Given the description of an element on the screen output the (x, y) to click on. 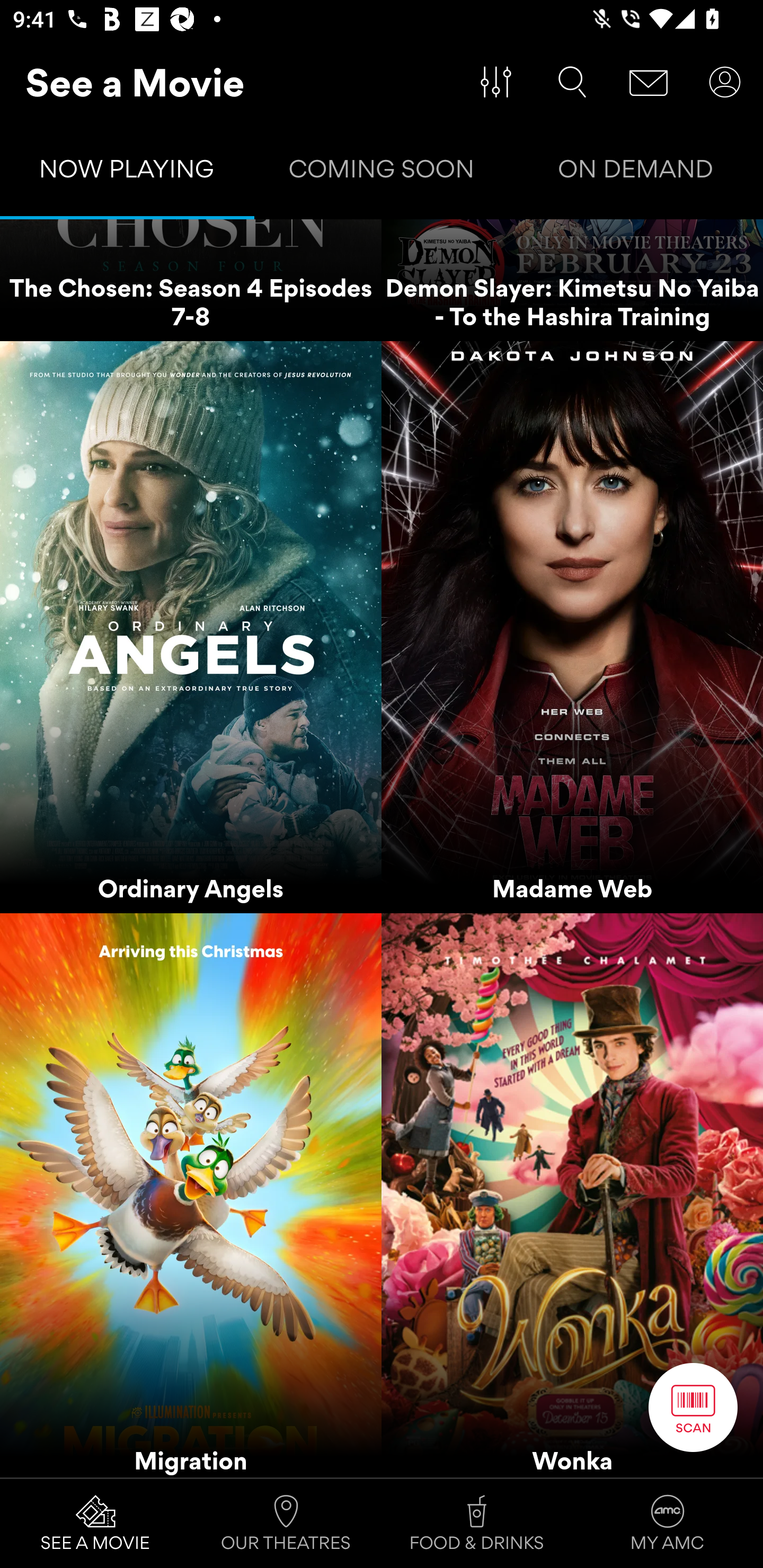
Filter Movies (495, 82)
Search (572, 82)
Message Center (648, 82)
User Account (724, 82)
NOW PLAYING
Tab 1 of 3 (127, 173)
COMING SOON
Tab 2 of 3 (381, 173)
ON DEMAND
Tab 3 of 3 (635, 173)
The Chosen: Season 4 Episodes 7-8 (190, 280)
Ordinary Angels (190, 626)
Madame Web (572, 626)
Migration (190, 1194)
Wonka (572, 1194)
Scan Button (692, 1406)
SEE A MOVIE
Tab 1 of 4 (95, 1523)
OUR THEATRES
Tab 2 of 4 (285, 1523)
FOOD & DRINKS
Tab 3 of 4 (476, 1523)
MY AMC
Tab 4 of 4 (667, 1523)
